Given the description of an element on the screen output the (x, y) to click on. 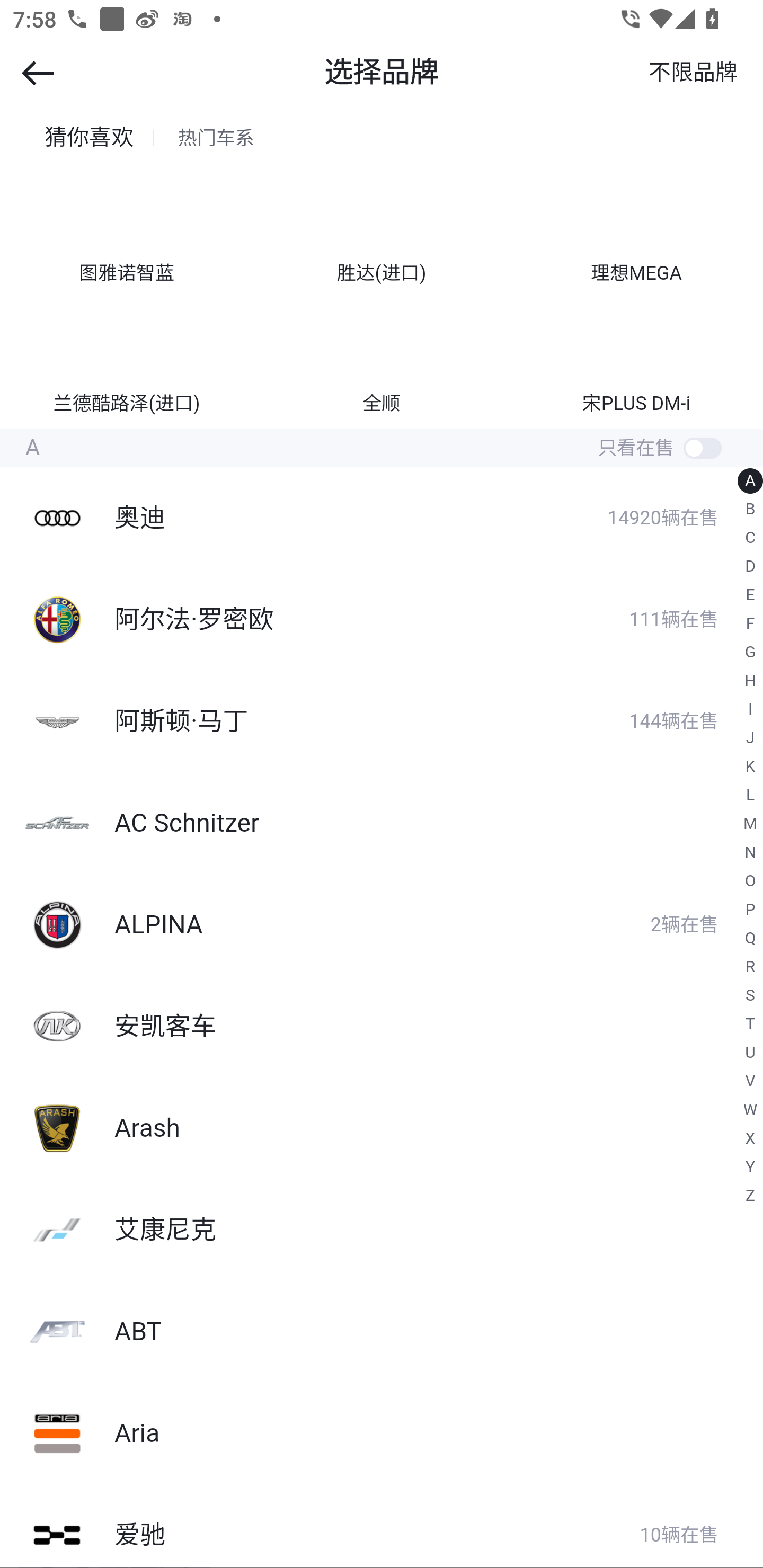
选择品牌 (381, 72)
不限品牌 (692, 73)
猜你喜欢 (88, 137)
热门车系 (216, 137)
兰德酷路泽(进口) (127, 359)
全顺 (381, 359)
宋PLUS DM-i (635, 359)
只看在售 (679, 448)
